Given the description of an element on the screen output the (x, y) to click on. 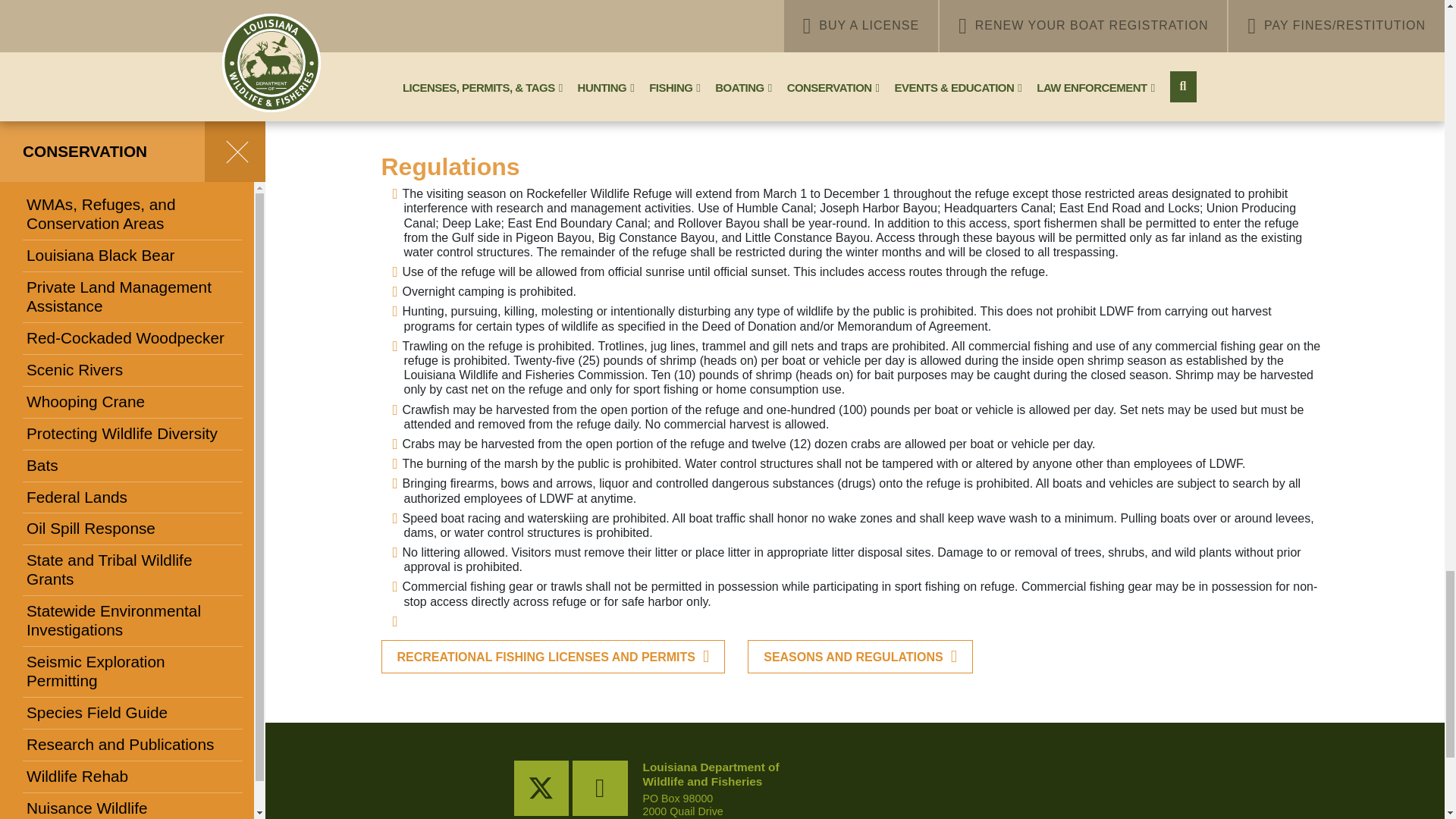
Recreational Fishing Licenses and Permits (552, 656)
Seasons and Regulations (860, 656)
